Given the description of an element on the screen output the (x, y) to click on. 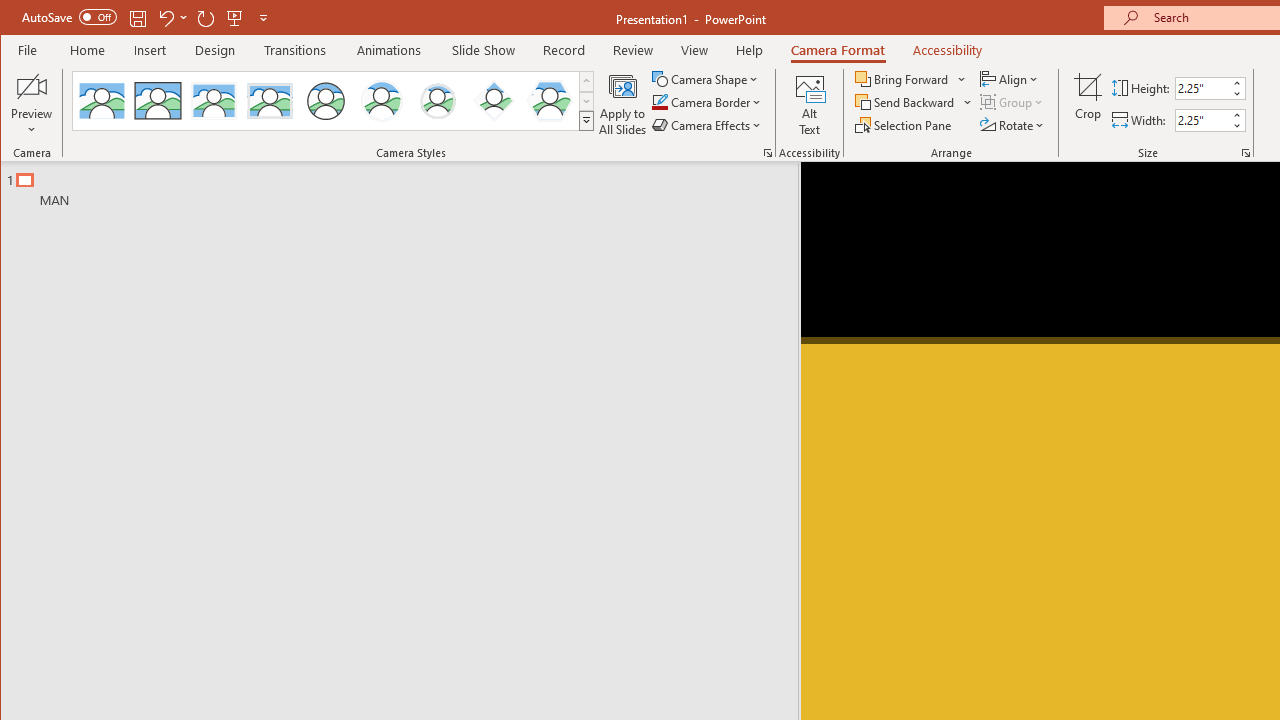
Bring Forward (903, 78)
Center Shadow Diamond (493, 100)
Align (1010, 78)
Cameo Height (1201, 88)
No Style (102, 100)
Center Shadow Rectangle (213, 100)
Rotate (1013, 124)
Simple Frame Rectangle (157, 100)
Alt Text (809, 104)
Center Shadow Hexagon (550, 100)
